Given the description of an element on the screen output the (x, y) to click on. 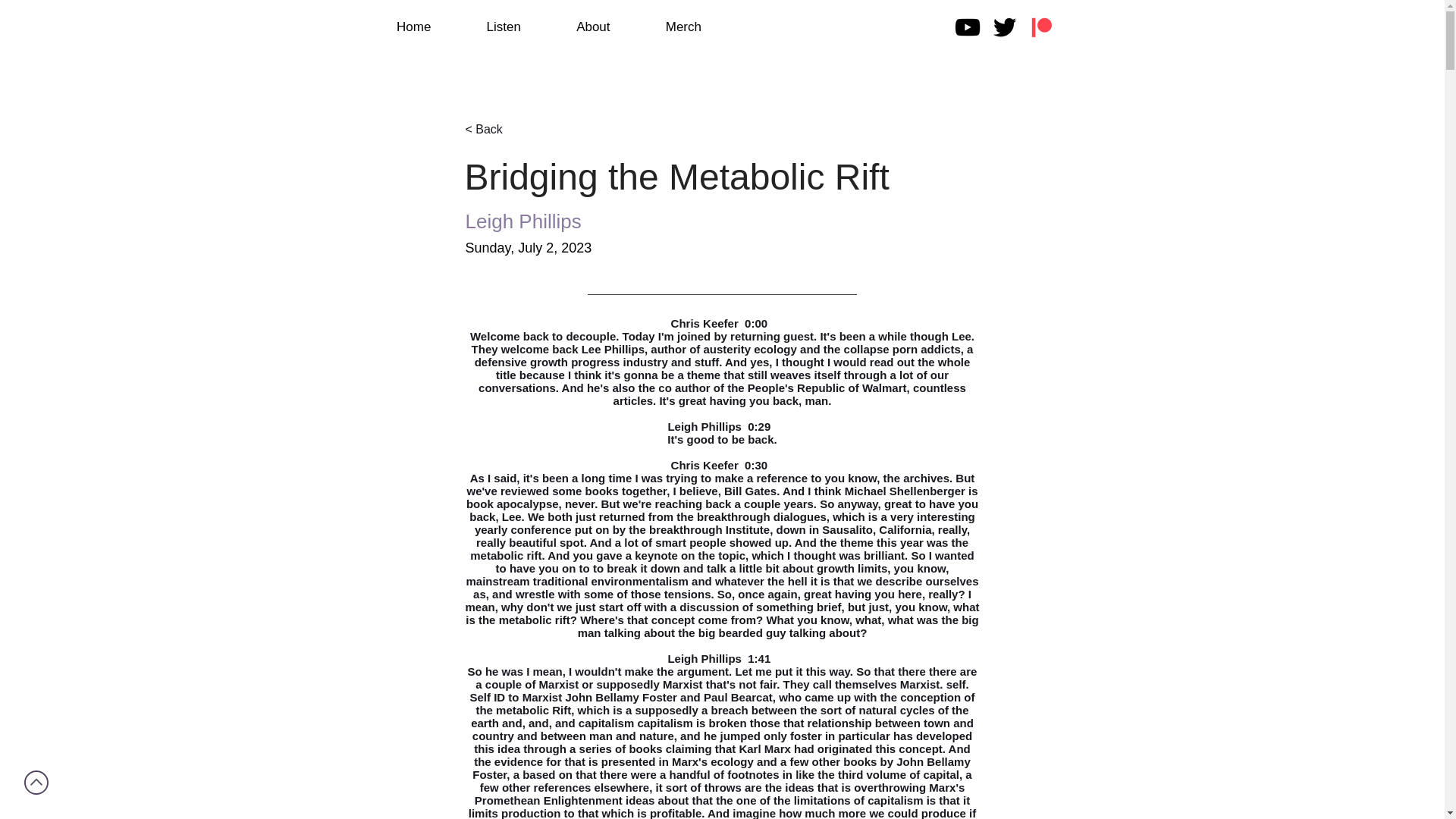
About (592, 27)
Home (413, 27)
Merch (682, 27)
Listen (503, 27)
